Given the description of an element on the screen output the (x, y) to click on. 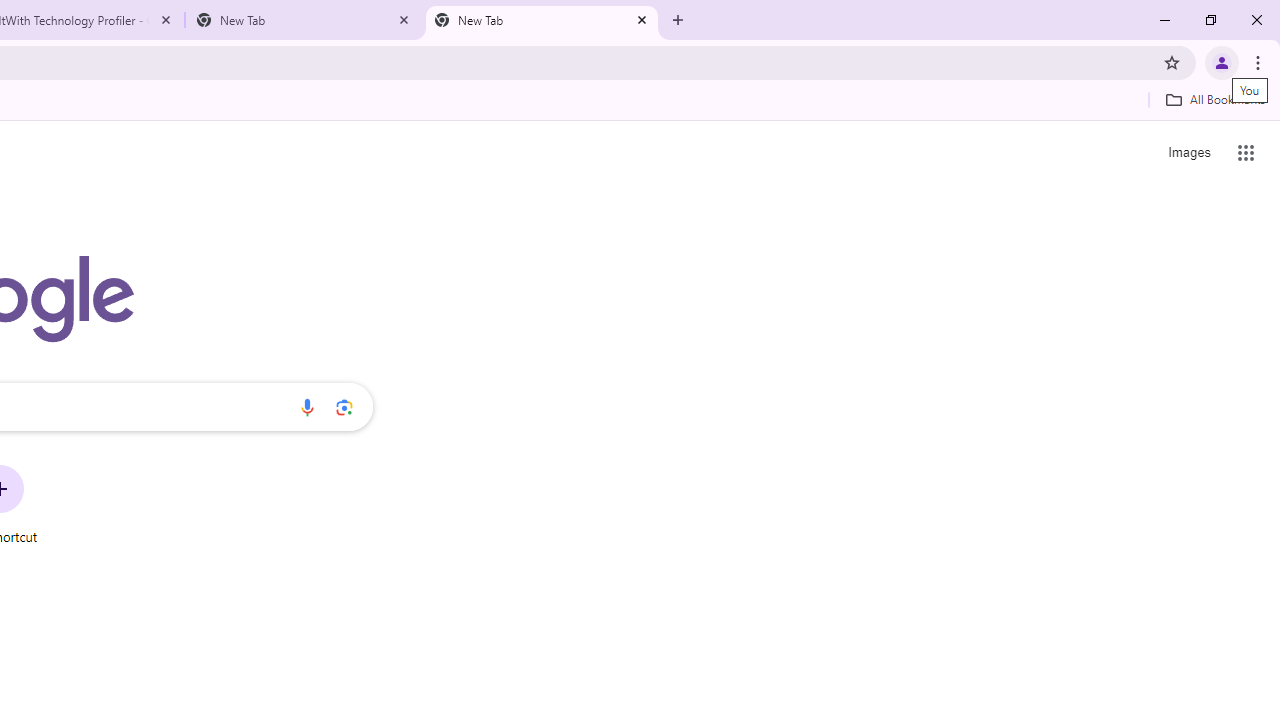
New Tab (304, 20)
New Tab (541, 20)
